Given the description of an element on the screen output the (x, y) to click on. 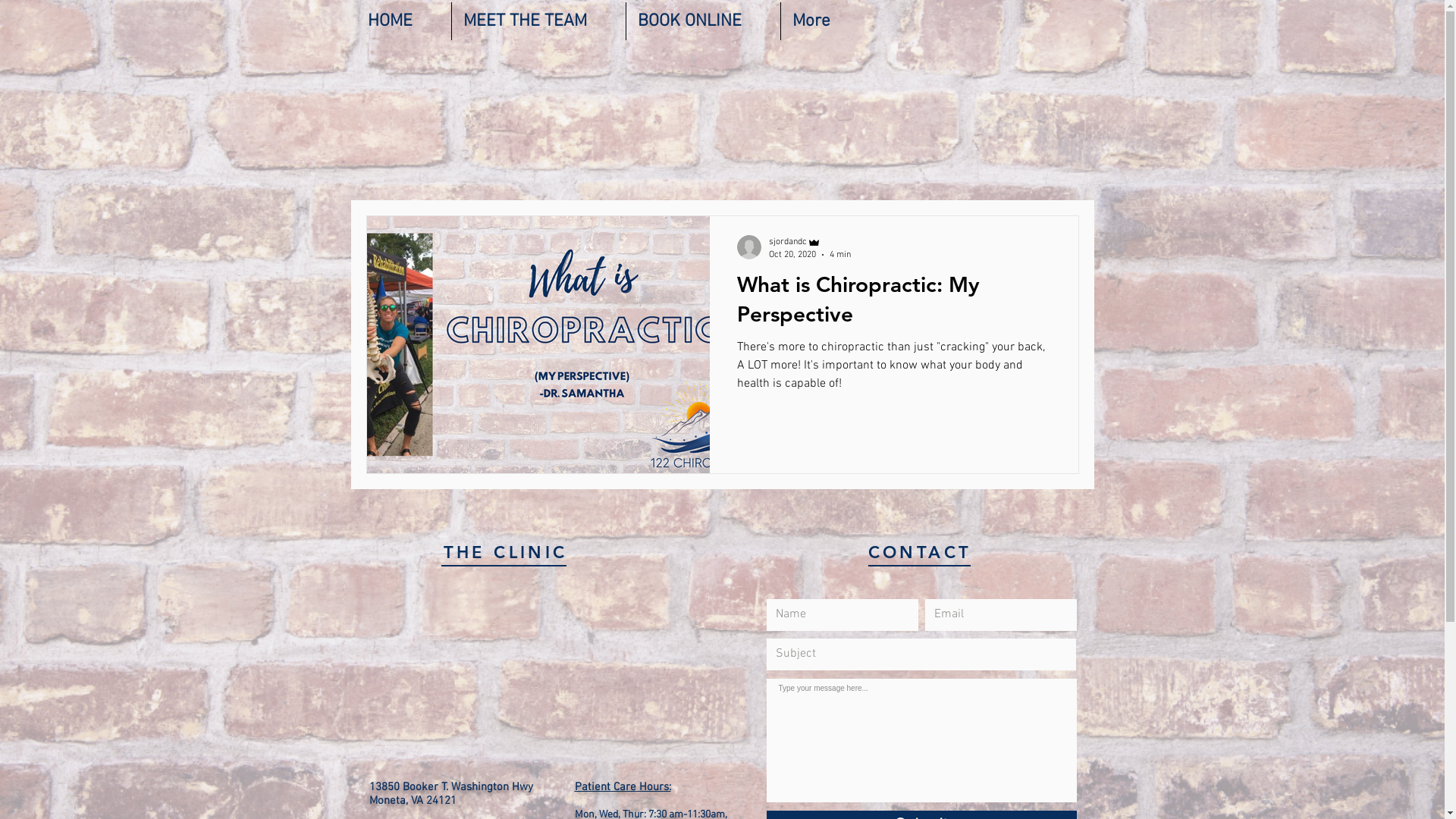
Google Maps Element type: hover (525, 677)
BOOK ONLINE Element type: text (703, 21)
HOME Element type: text (403, 21)
MEET THE TEAM Element type: text (538, 21)
What is Chiropractic: My Perspective Element type: text (894, 303)
sjordandc Element type: text (809, 242)
